Given the description of an element on the screen output the (x, y) to click on. 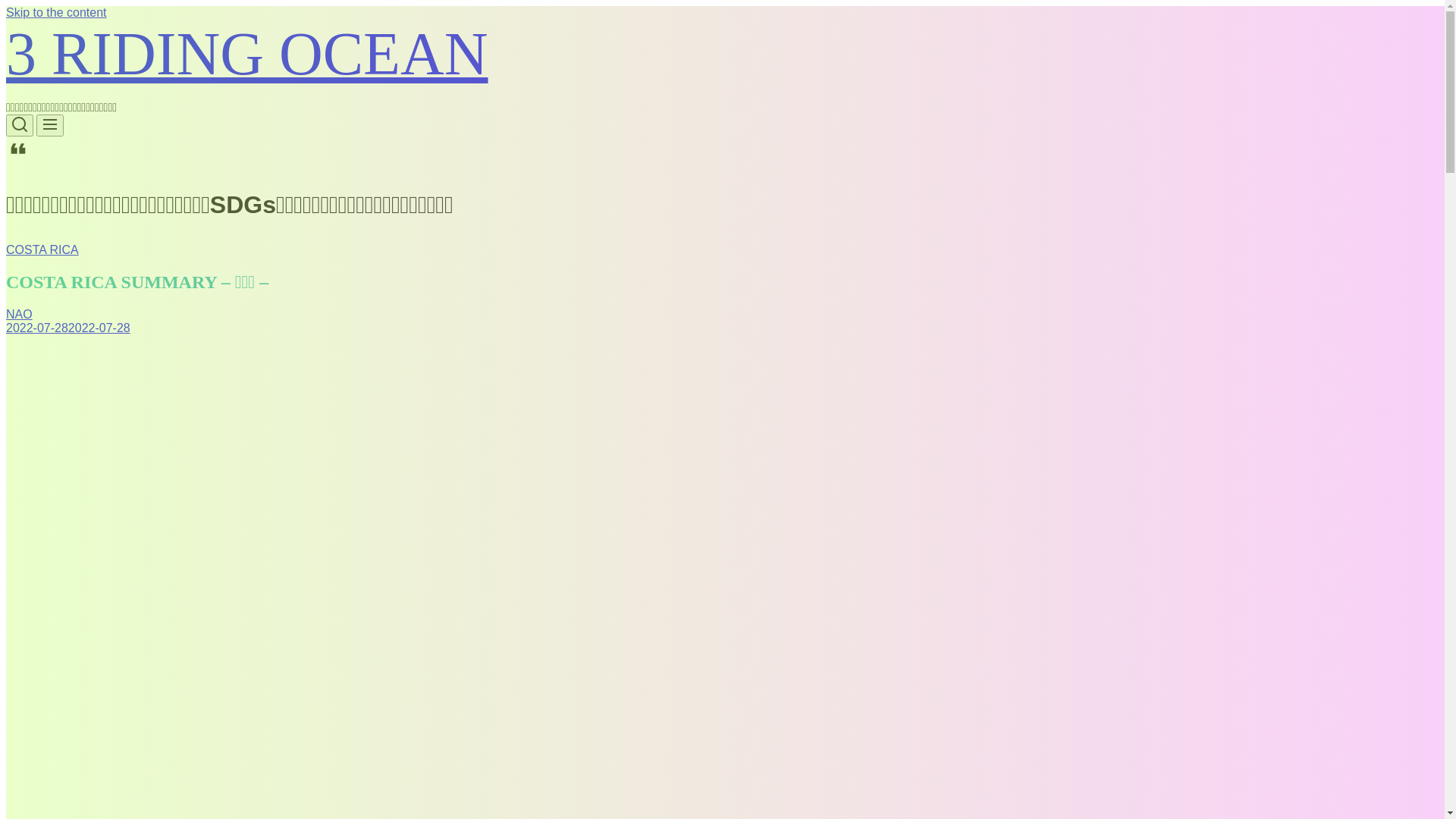
NAO Element type: text (19, 313)
3 RIDING OCEAN Element type: text (247, 53)
COSTA RICA Element type: text (42, 249)
2022-07-282022-07-28 Element type: text (68, 327)
Skip to the content Element type: text (56, 12)
